Given the description of an element on the screen output the (x, y) to click on. 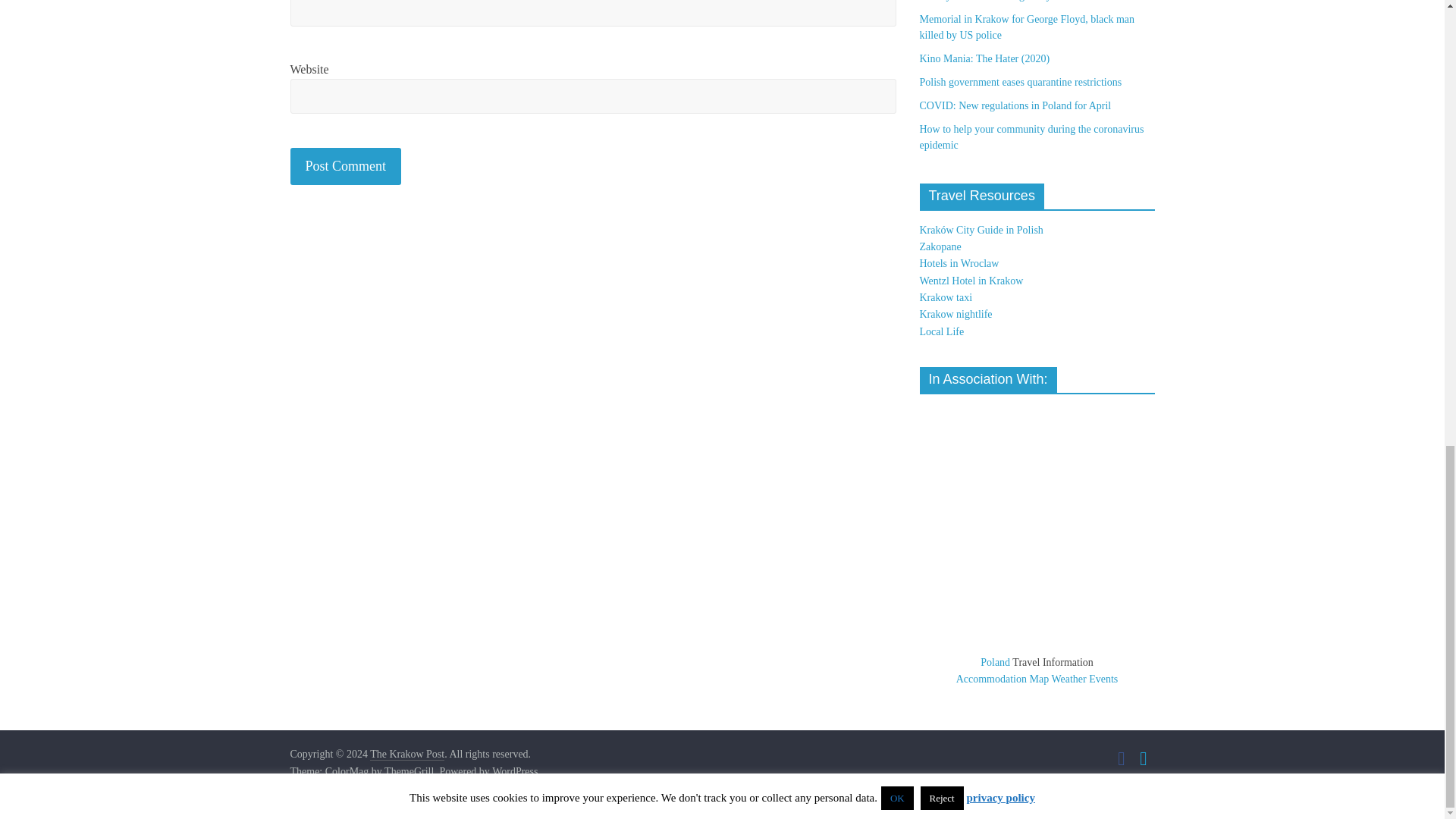
Post Comment (345, 166)
WordPress (514, 771)
ColorMag (346, 771)
The Krakow Post (406, 754)
